Given the description of an element on the screen output the (x, y) to click on. 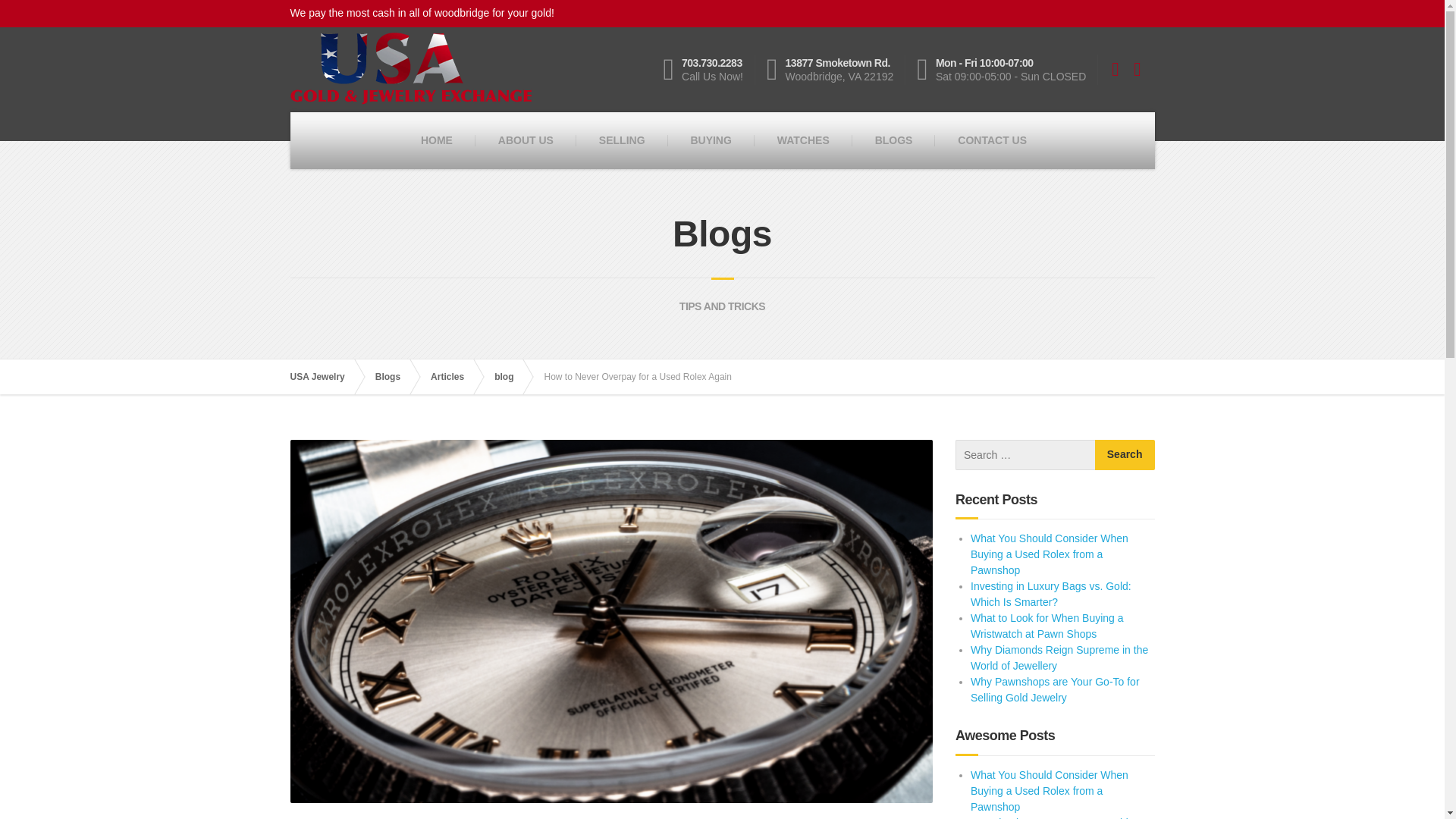
SELLING (622, 140)
HOME (436, 140)
Why Pawnshops are Your Go-To for Selling Gold Jewelry (1055, 689)
Search (1124, 454)
blog (511, 376)
ABOUT US (526, 140)
Search (1124, 454)
USA Jewelry (324, 376)
CONTACT US (708, 69)
